Given the description of an element on the screen output the (x, y) to click on. 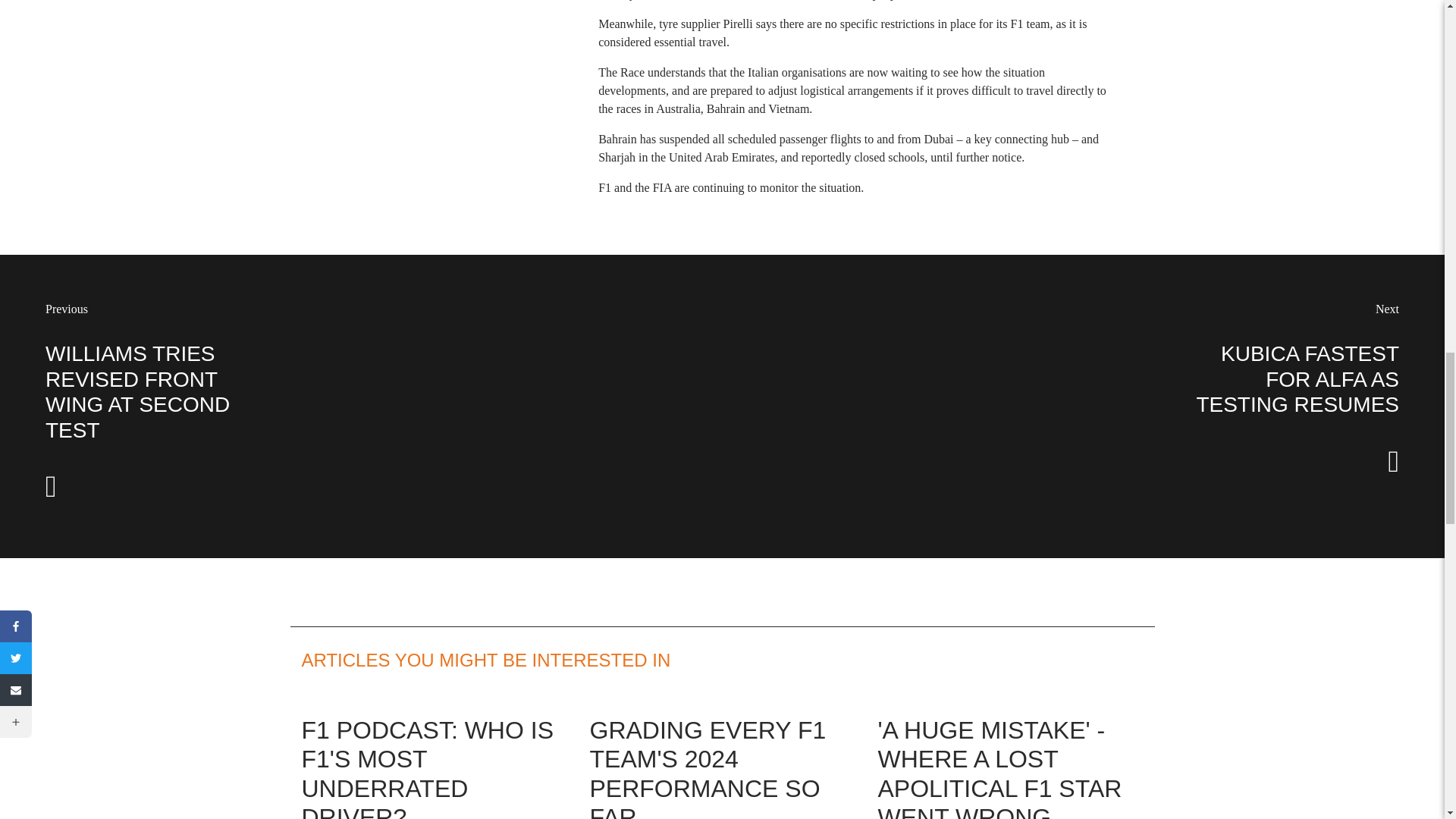
Previous (66, 308)
Next (1387, 308)
F1 PODCAST: WHO IS F1'S MOST UNDERRATED DRIVER? (427, 767)
KUBICA FASTEST FOR ALFA AS TESTING RESUMES (1297, 379)
GRADING EVERY F1 TEAM'S 2024 PERFORMANCE SO FAR (707, 767)
WILLIAMS TRIES REVISED FRONT WING AT SECOND TEST (137, 392)
